Given the description of an element on the screen output the (x, y) to click on. 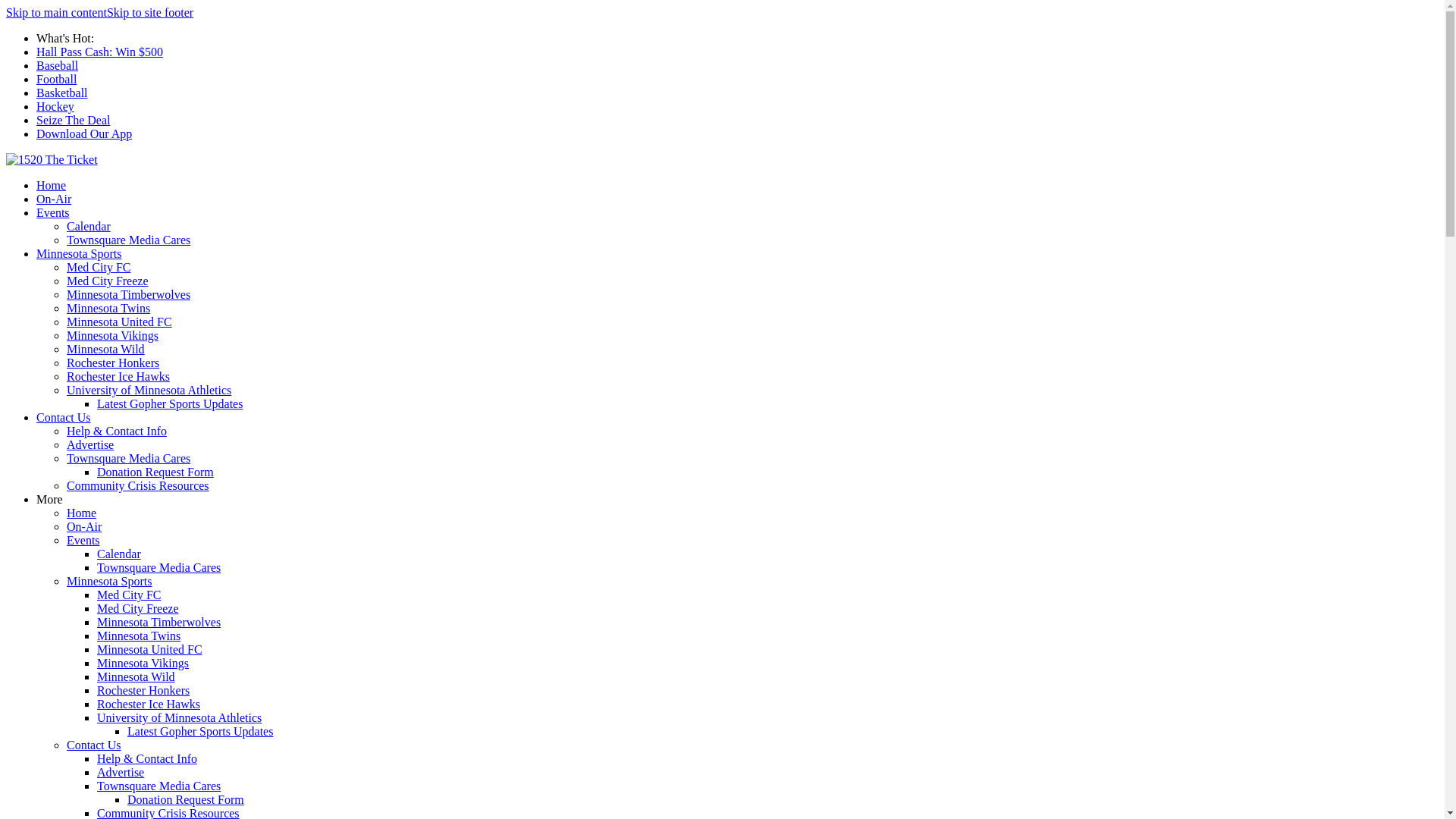
Townsquare Media Cares Element type: text (158, 785)
Events Element type: text (52, 212)
Calendar Element type: text (88, 225)
Basketball Element type: text (61, 92)
Community Crisis Resources Element type: text (137, 485)
Minnesota Wild Element type: text (105, 348)
Minnesota Sports Element type: text (78, 253)
Townsquare Media Cares Element type: text (128, 239)
Med City FC Element type: text (128, 594)
Contact Us Element type: text (63, 417)
Minnesota Wild Element type: text (136, 676)
Latest Gopher Sports Updates Element type: text (169, 403)
Minnesota United FC Element type: text (119, 321)
Minnesota Timberwolves Element type: text (158, 621)
Minnesota Timberwolves Element type: text (128, 294)
Rochester Ice Hawks Element type: text (117, 376)
Donation Request Form Element type: text (185, 799)
Help & Contact Info Element type: text (147, 758)
Contact Us Element type: text (93, 744)
University of Minnesota Athletics Element type: text (179, 717)
Med City Freeze Element type: text (107, 280)
Download Our App Element type: text (83, 133)
Minnesota Vikings Element type: text (142, 662)
On-Air Element type: text (53, 198)
Help & Contact Info Element type: text (116, 430)
Minnesota Sports Element type: text (108, 580)
On-Air Element type: text (83, 526)
Rochester Honkers Element type: text (143, 690)
Townsquare Media Cares Element type: text (128, 457)
Townsquare Media Cares Element type: text (158, 567)
Rochester Honkers Element type: text (112, 362)
Football Element type: text (56, 78)
Events Element type: text (83, 539)
Minnesota Vikings Element type: text (112, 335)
Seize The Deal Element type: text (72, 119)
Minnesota Twins Element type: text (108, 307)
Hall Pass Cash: Win $500 Element type: text (99, 51)
Home Element type: text (81, 512)
Hockey Element type: text (55, 106)
Calendar Element type: text (119, 553)
Minnesota United FC Element type: text (149, 649)
Skip to main content Element type: text (56, 12)
Latest Gopher Sports Updates Element type: text (200, 730)
Med City FC Element type: text (98, 266)
Med City Freeze Element type: text (137, 608)
Minnesota Twins Element type: text (138, 635)
Home Element type: text (50, 184)
Advertise Element type: text (120, 771)
Baseball Element type: text (57, 65)
Rochester Ice Hawks Element type: text (148, 703)
Skip to site footer Element type: text (149, 12)
Advertise Element type: text (89, 444)
University of Minnesota Athletics Element type: text (148, 389)
Donation Request Form Element type: text (155, 471)
